Given the description of an element on the screen output the (x, y) to click on. 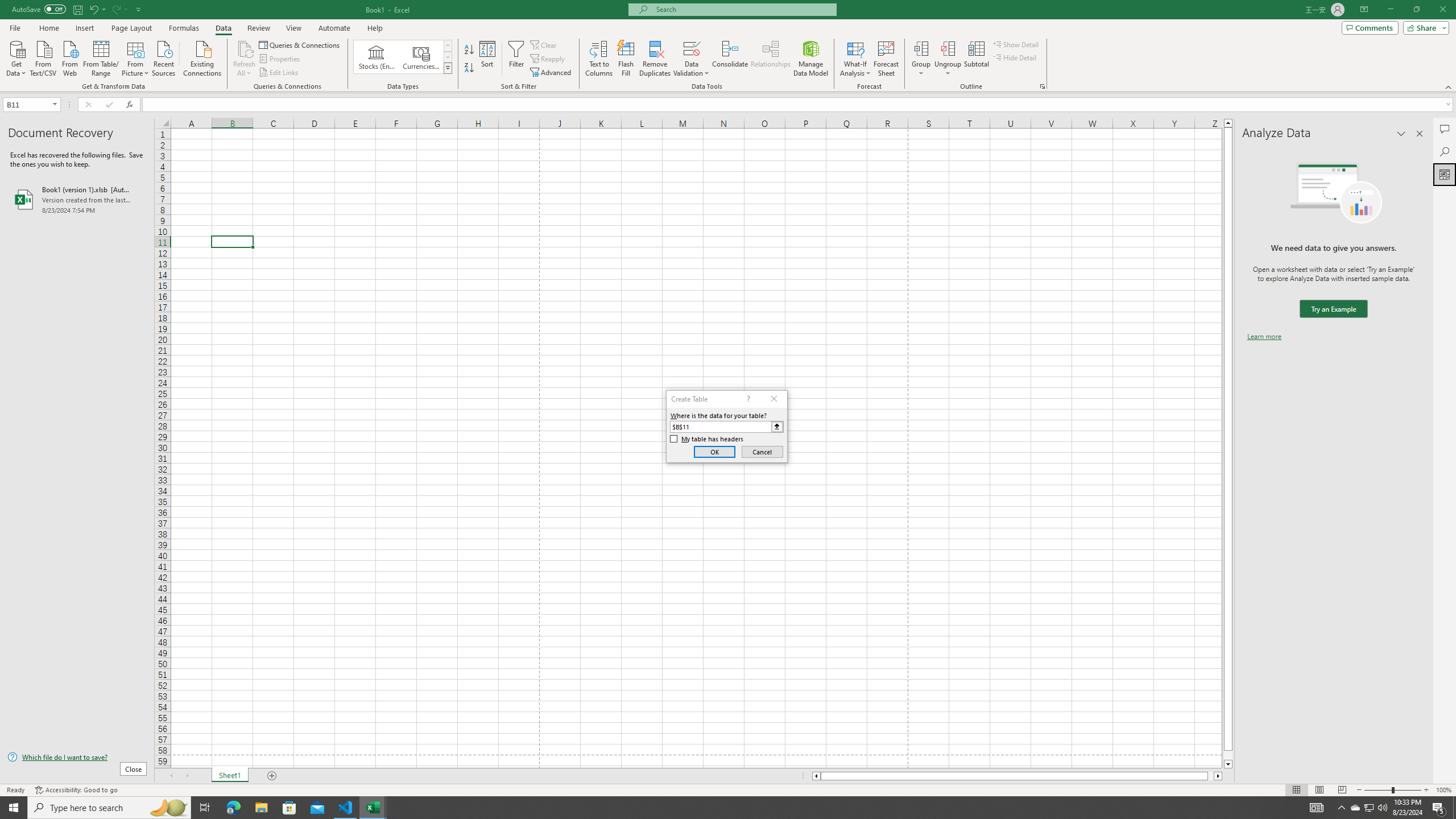
Stocks (English) (375, 56)
Forecast Sheet (885, 58)
Relationships (770, 58)
AutomationID: ConvertToLinkedEntity (403, 56)
